Given the description of an element on the screen output the (x, y) to click on. 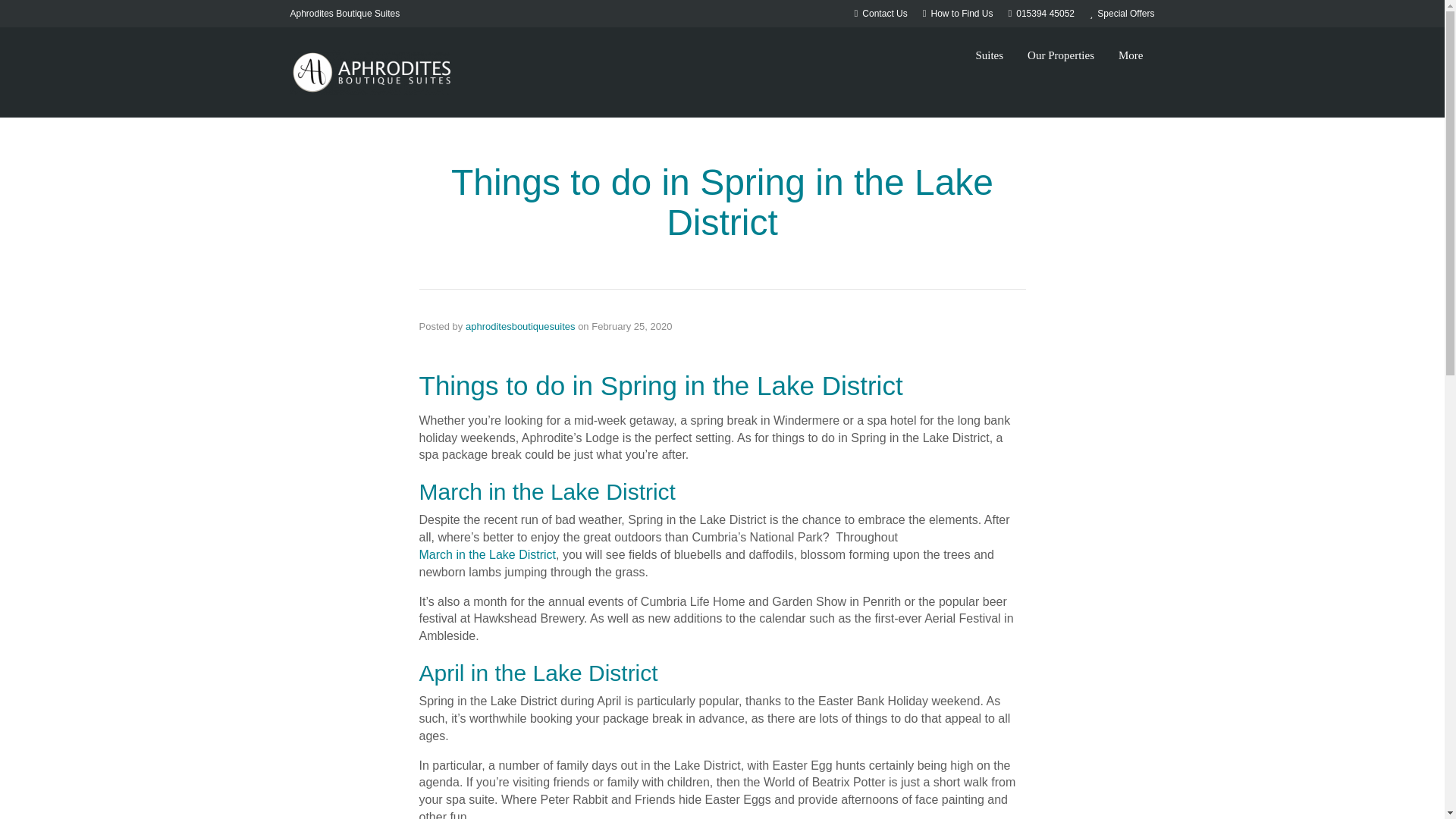
015394 45052 (1042, 13)
Posts by aphroditesboutiquesuites (520, 326)
How to Find Us (957, 13)
Special Offers (1121, 13)
Contact Us (880, 13)
